Given the description of an element on the screen output the (x, y) to click on. 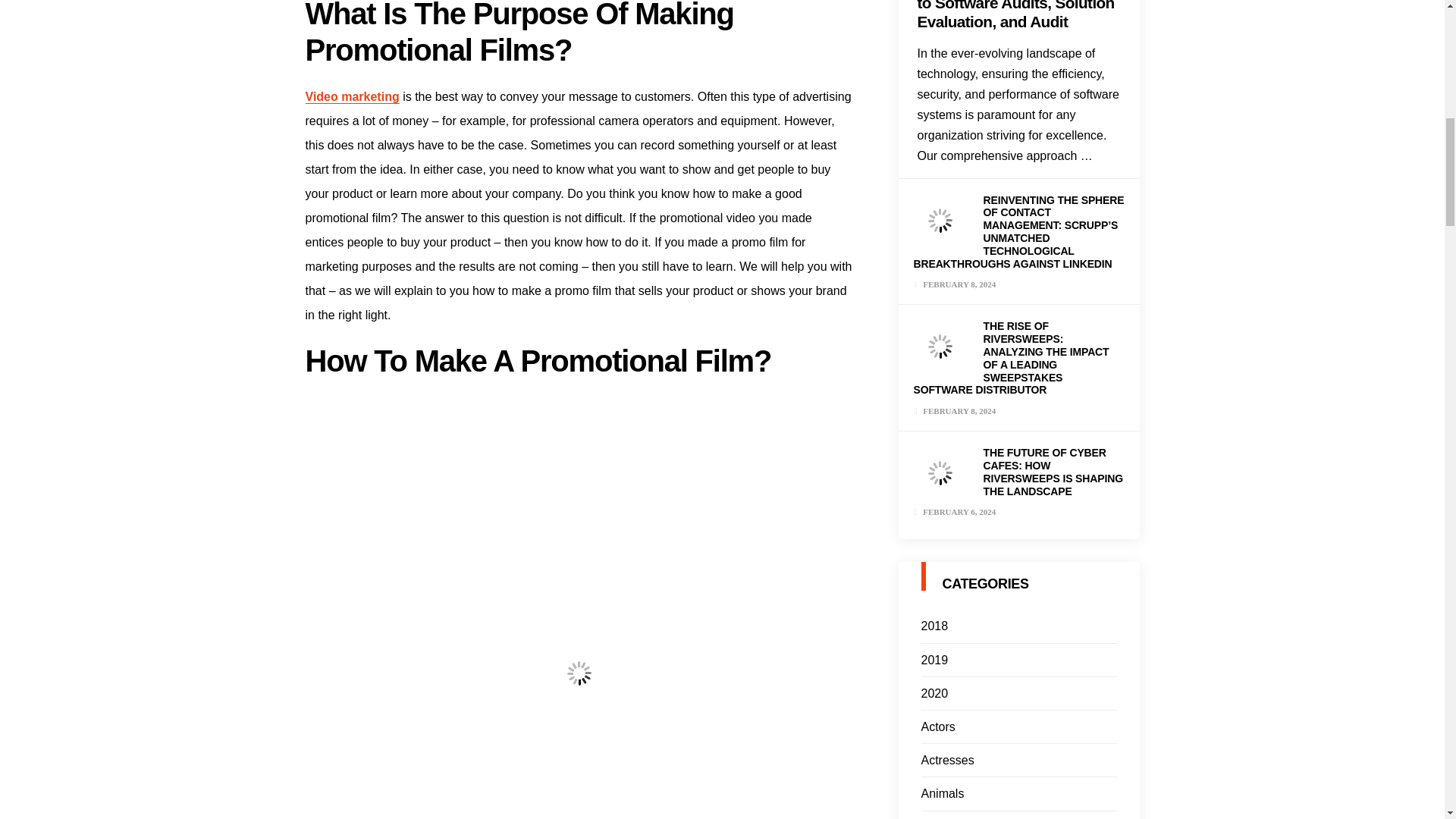
Video marketing (351, 97)
